Given the description of an element on the screen output the (x, y) to click on. 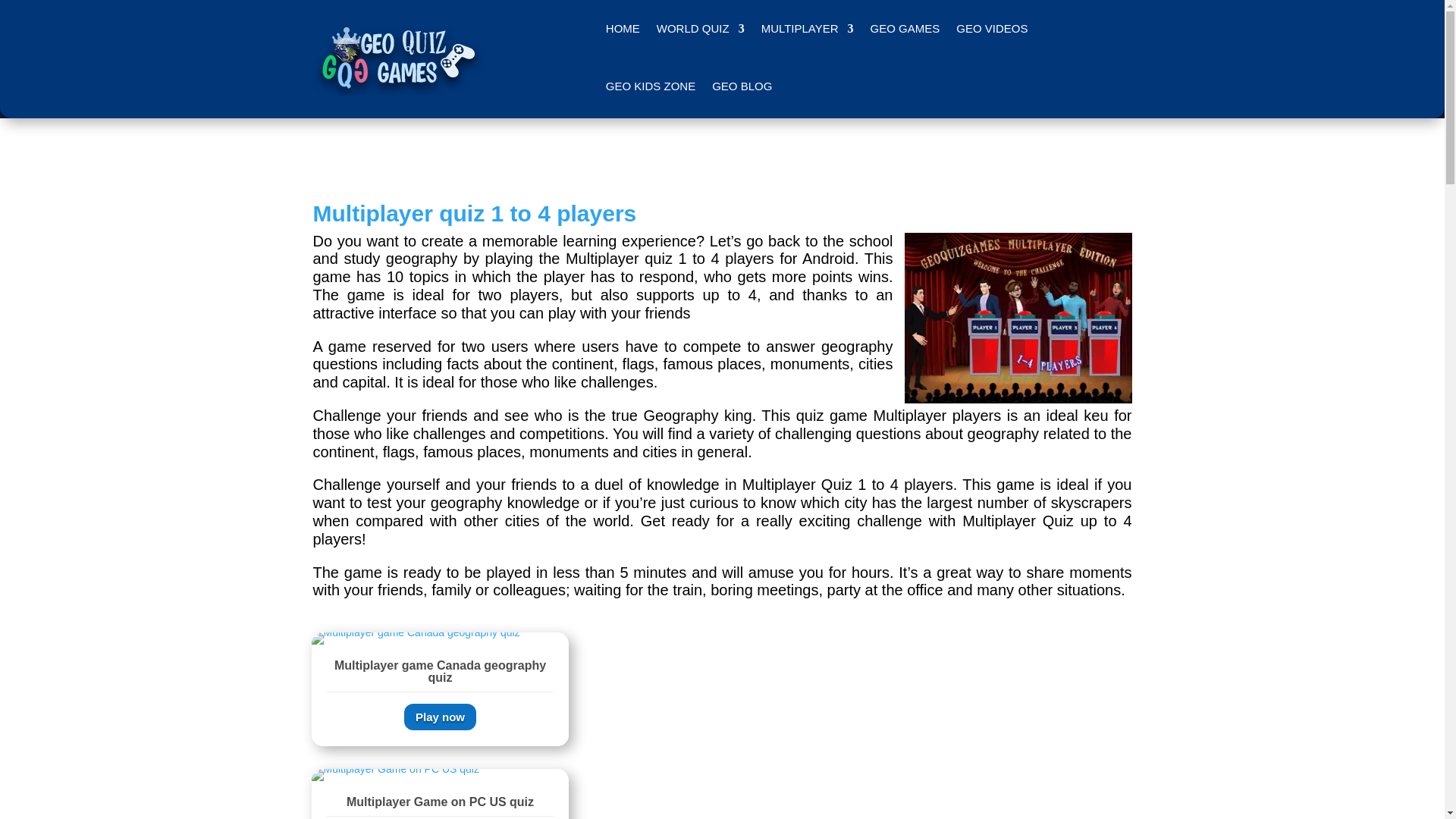
WORLD QUIZ (700, 28)
MULTIPLAYER (807, 28)
GEO GAMES (905, 28)
